Given the description of an element on the screen output the (x, y) to click on. 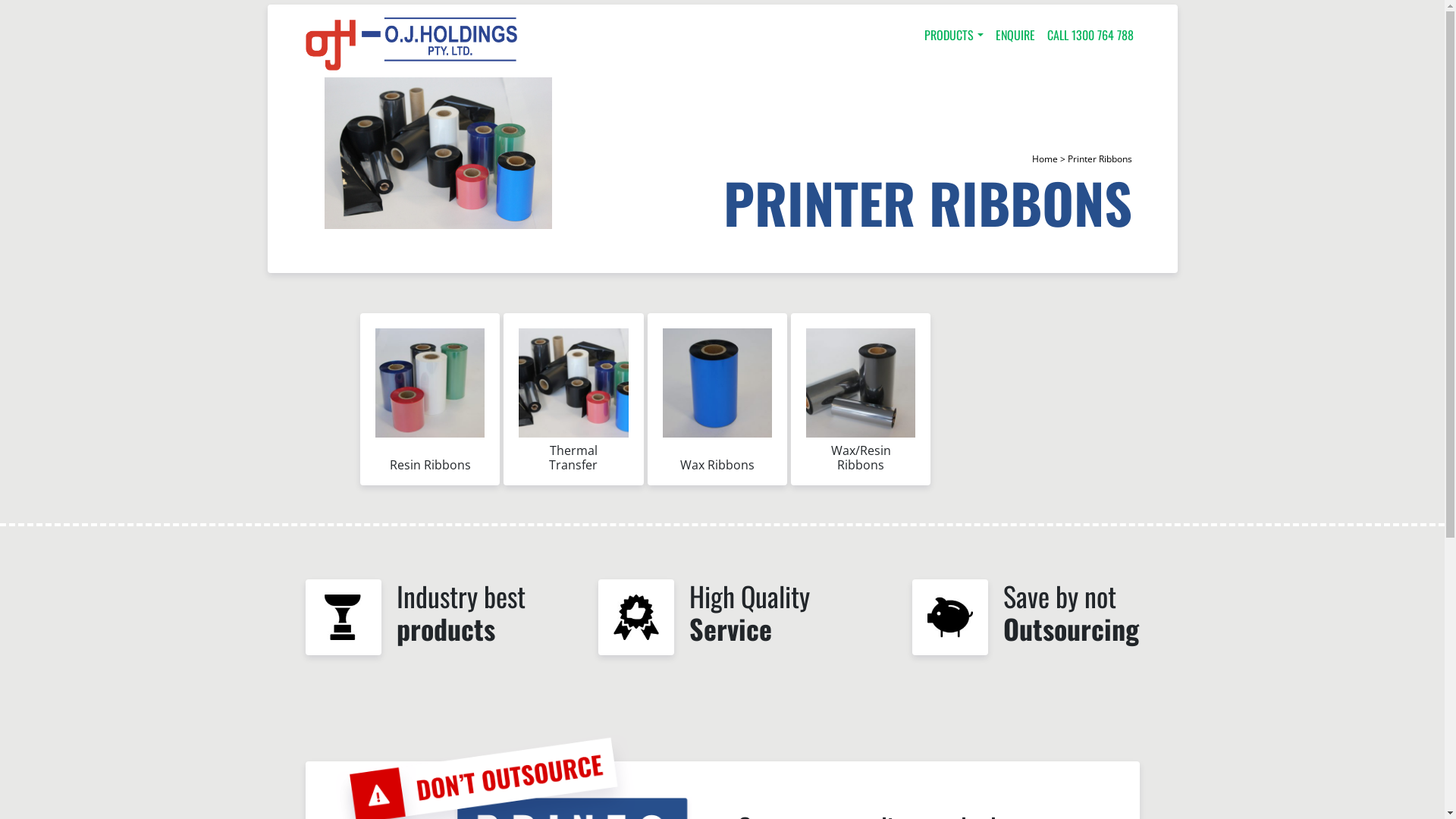
OJ HOLDINGS Element type: text (410, 43)
Thermal Transfer Element type: text (572, 406)
Resin Ribbons Element type: text (429, 406)
CALL 1300 764 788 Element type: text (1089, 34)
PRODUCTS Element type: text (953, 34)
ENQUIRE Element type: text (1014, 34)
Home Element type: text (1044, 158)
Wax/Resin Ribbons Element type: text (860, 406)
Wax Ribbons Element type: text (716, 406)
